Given the description of an element on the screen output the (x, y) to click on. 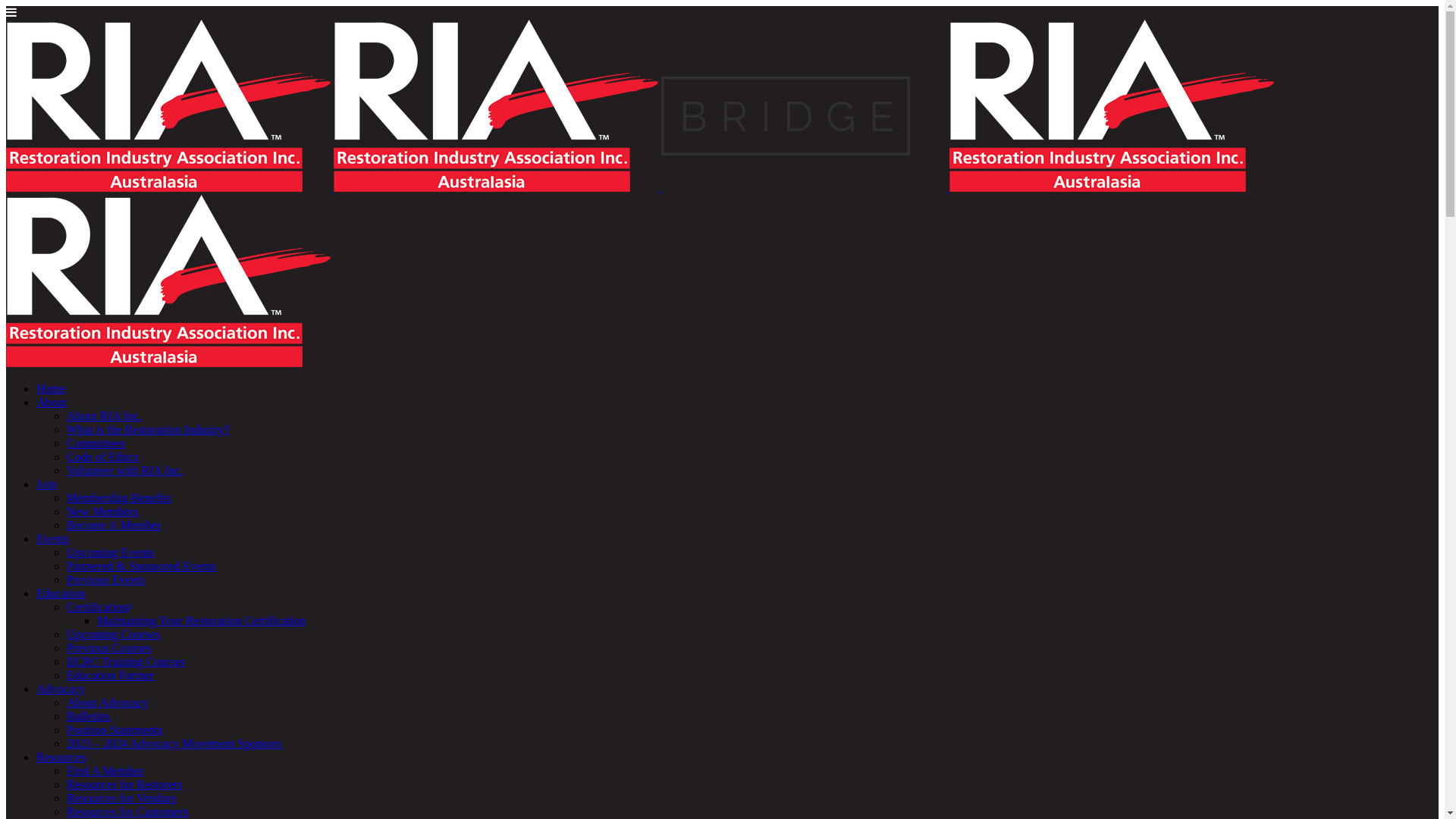
Find A Member Element type: text (104, 770)
About Advocacy Element type: text (107, 702)
Previous Events Element type: text (105, 579)
Education Element type: text (60, 592)
Membership Benefits Element type: text (118, 497)
Resources for Restorers Element type: text (124, 784)
Code of Ethics Element type: text (102, 456)
Upcoming Courses Element type: text (113, 633)
What is the Restoration Industry? Element type: text (147, 429)
Bulletins Element type: text (88, 715)
Position Statements Element type: text (114, 729)
Volunteer with RIA Inc. Element type: text (124, 470)
Resources for Vendors Element type: text (121, 797)
Resources Element type: text (61, 756)
Education Partner Element type: text (109, 674)
IICRC Training Courses Element type: text (125, 661)
Advocacy Element type: text (60, 688)
Join Element type: text (46, 483)
New Members Element type: text (102, 511)
Home Element type: text (50, 388)
About Element type: text (51, 401)
Partnered & Sponsored Events Element type: text (141, 565)
Maintaining Your Restoration Certification Element type: text (201, 620)
Certification Element type: text (99, 606)
Previous Courses Element type: text (108, 647)
Resources for Customers Element type: text (127, 811)
Upcoming Events Element type: text (109, 552)
Committees Element type: text (95, 442)
Become A Member Element type: text (113, 524)
Events Element type: text (52, 538)
About RIA Inc. Element type: text (103, 415)
